Given the description of an element on the screen output the (x, y) to click on. 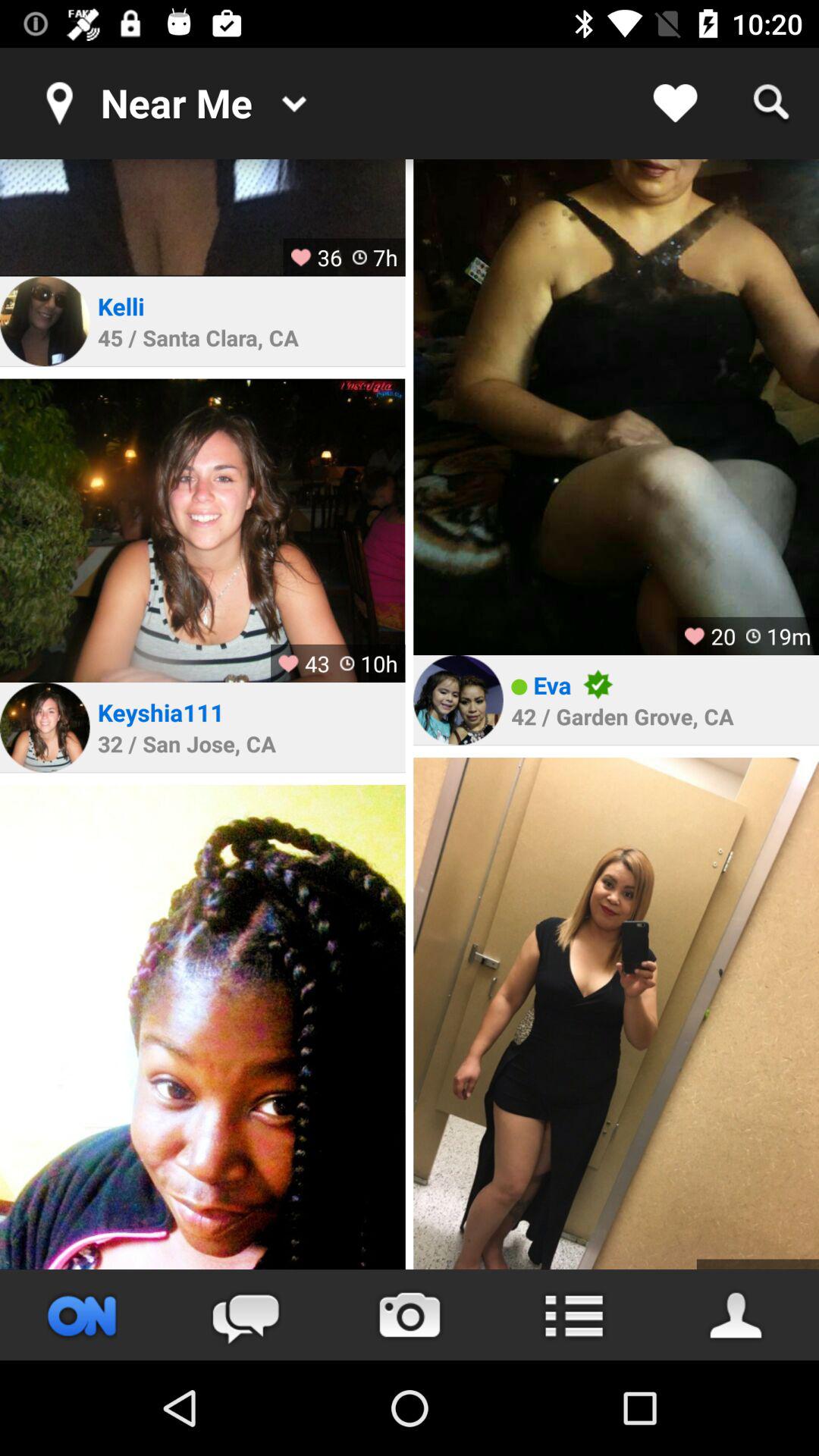
turn off the eva item (552, 684)
